Given the description of an element on the screen output the (x, y) to click on. 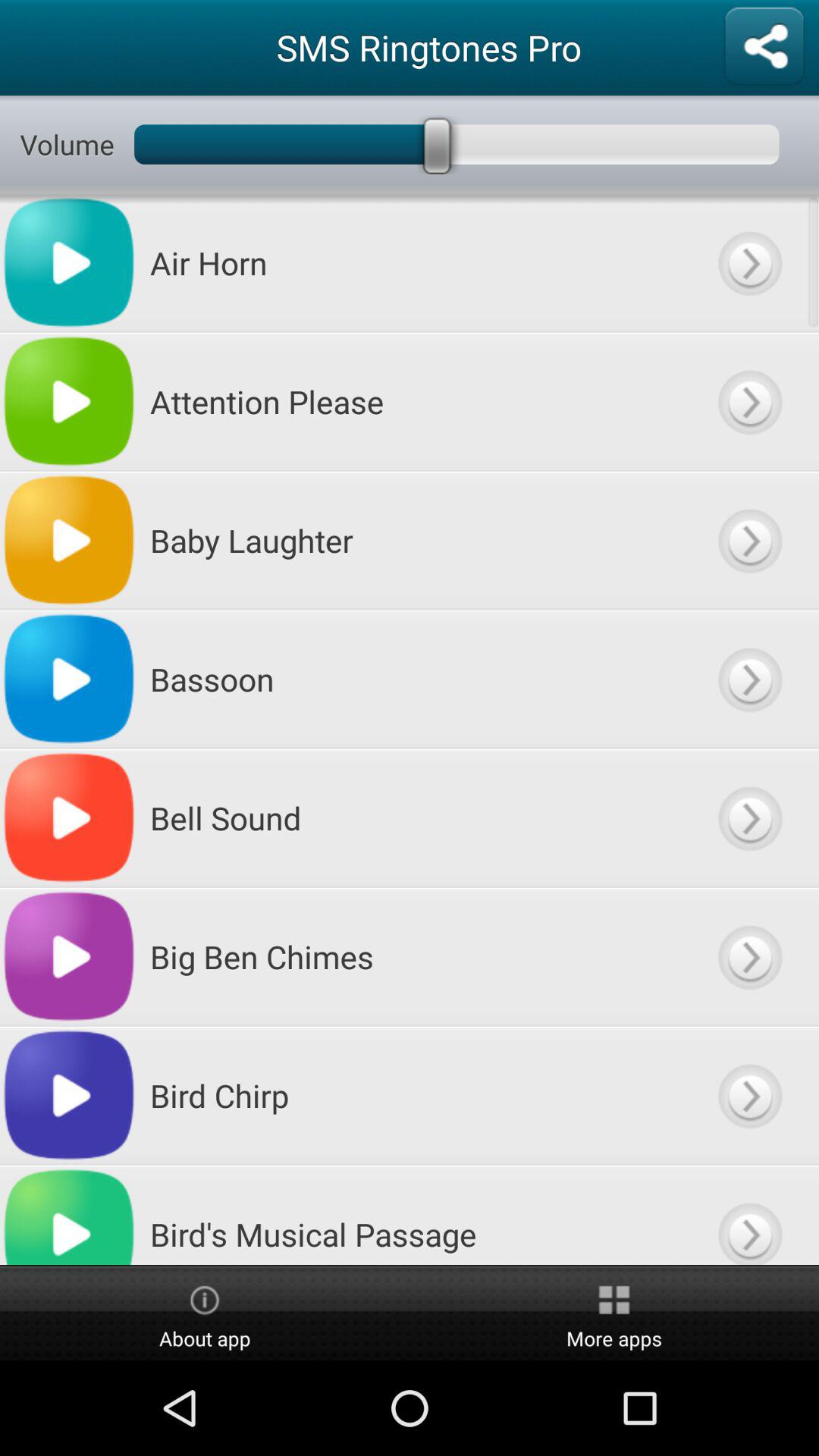
go to next button (749, 262)
